Given the description of an element on the screen output the (x, y) to click on. 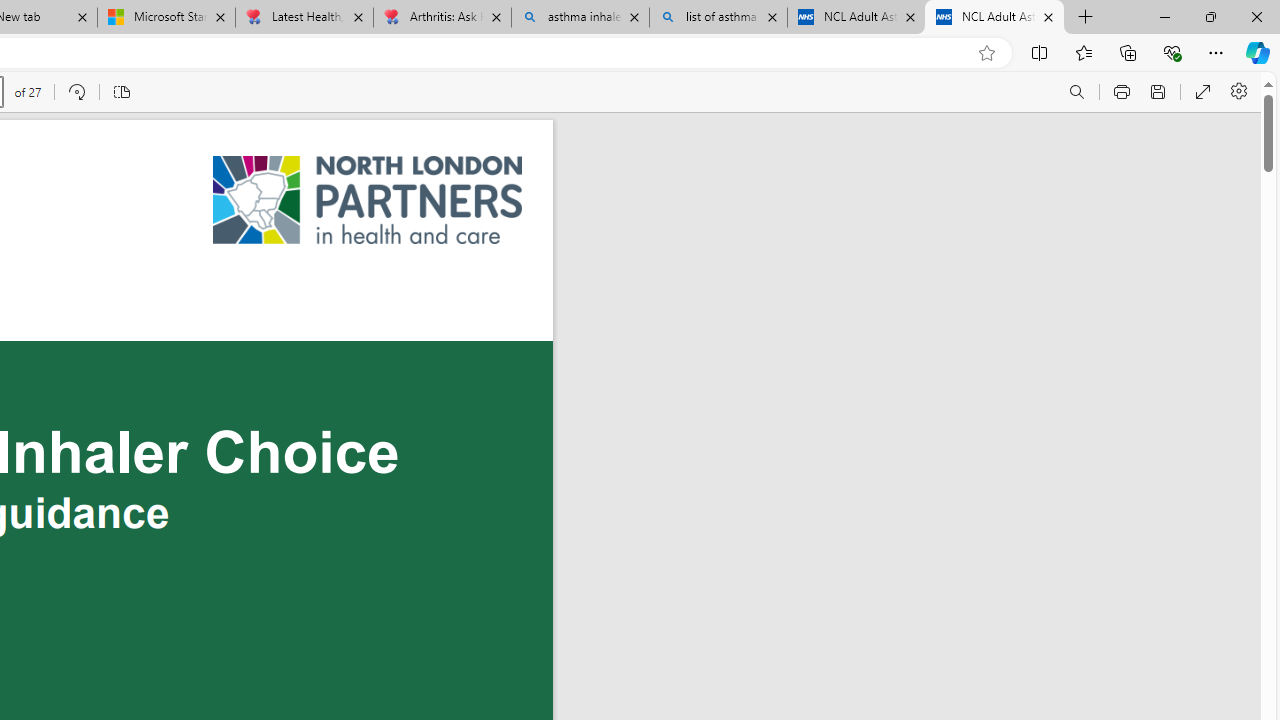
Find (Ctrl + F) (1076, 92)
Page view (120, 92)
Rotate (Ctrl+]) (75, 92)
asthma inhaler - Search (580, 17)
Settings and more (1238, 92)
